Given the description of an element on the screen output the (x, y) to click on. 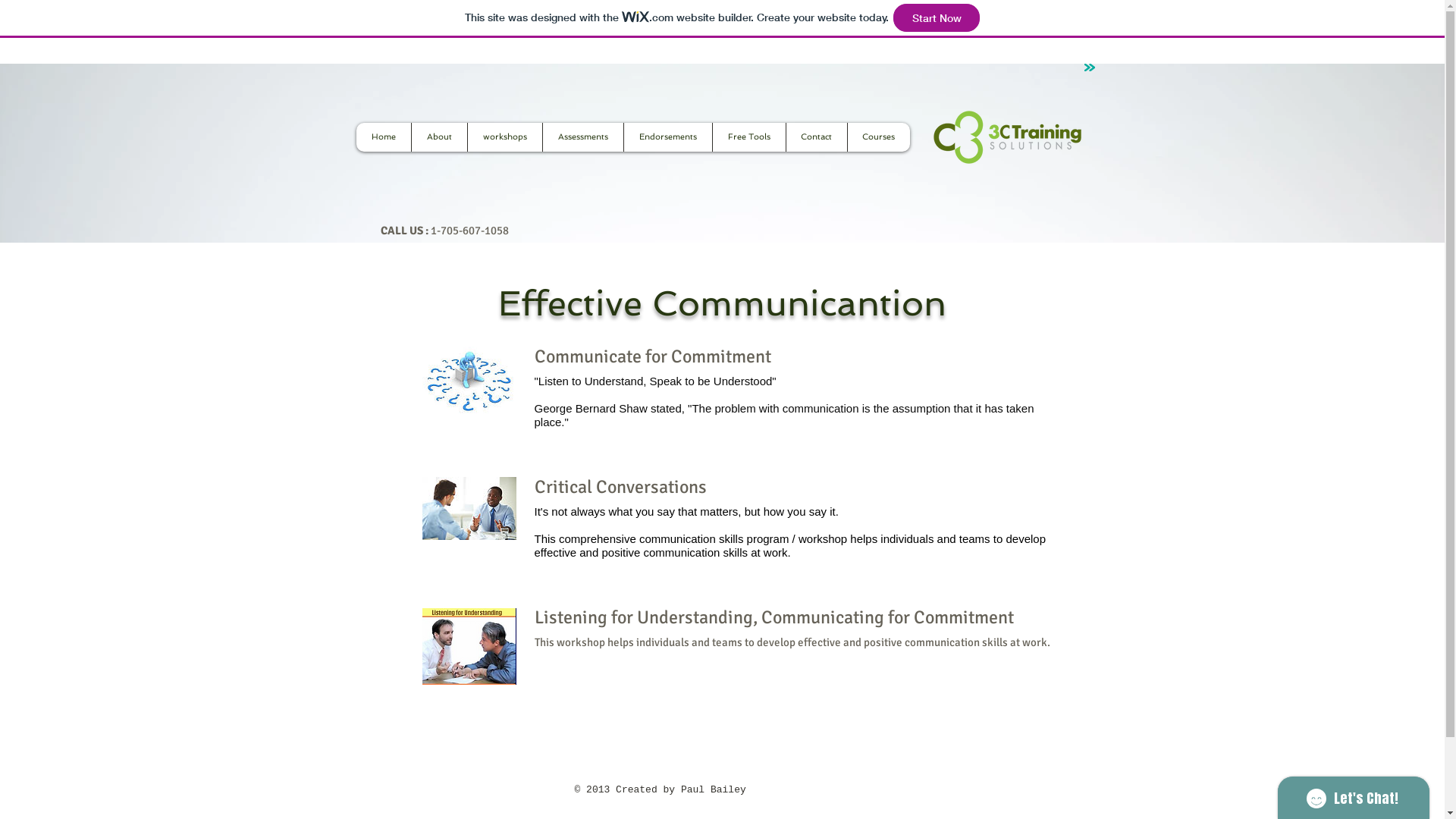
Assessments Element type: text (581, 136)
Courses Element type: text (877, 136)
Communication1.png Element type: hover (468, 645)
Business Meeting Element type: hover (468, 507)
Contact Element type: text (816, 136)
TWIPLA (Visitor Analytics) Element type: hover (632, 195)
workshops Element type: text (504, 136)
Free Tools Element type: text (747, 136)
About Element type: text (439, 136)
Home Element type: text (383, 136)
coaching.jpg Element type: hover (468, 381)
Communicate for Commitment Element type: text (793, 356)
Endorsements Element type: text (667, 136)
